Given the description of an element on the screen output the (x, y) to click on. 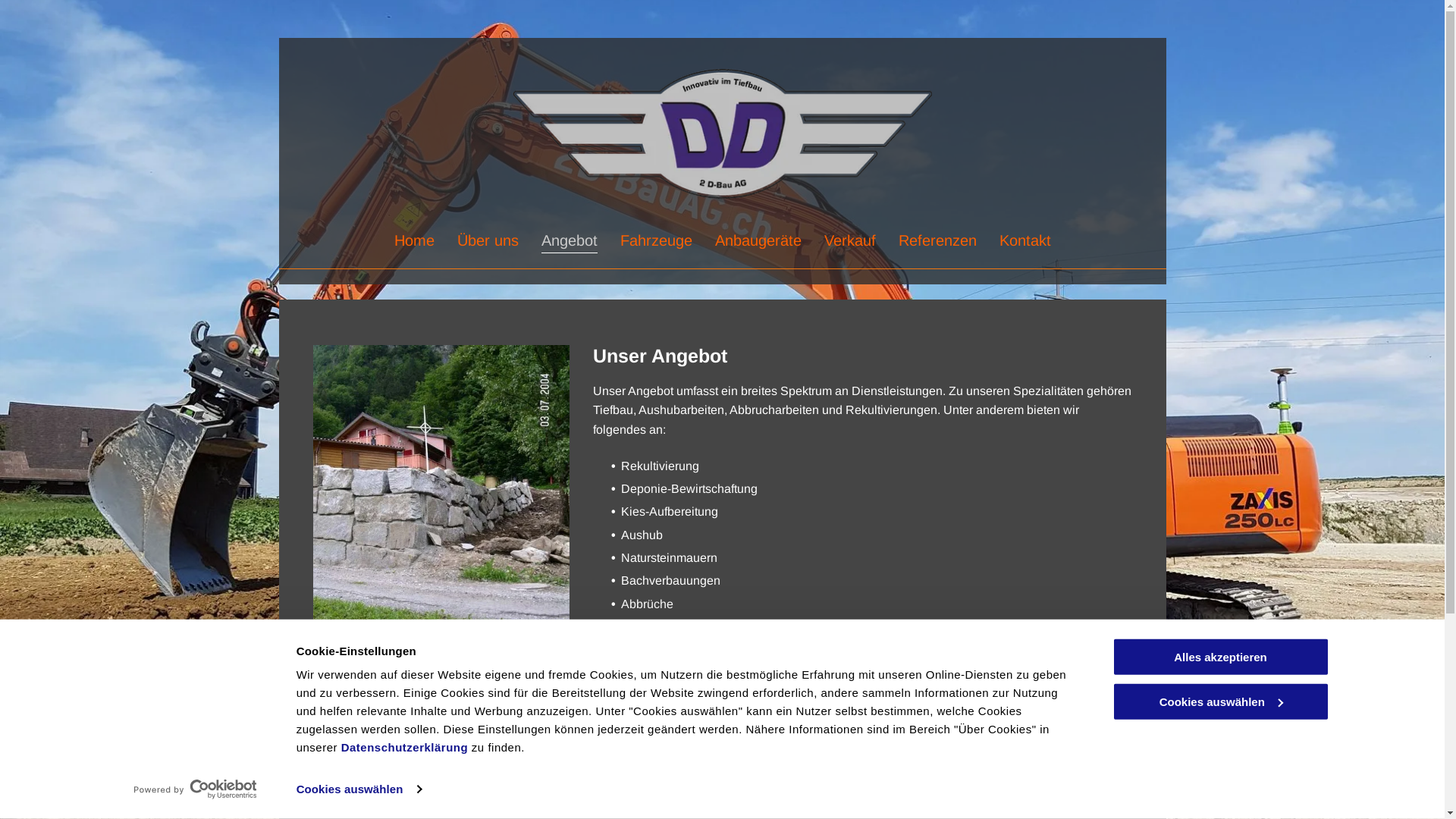
Fahrzeuge Element type: text (655, 239)
Referenzen Element type: text (937, 239)
Kontakt Element type: text (1024, 239)
Angebot Element type: text (568, 239)
Verkauf Element type: text (849, 239)
Alles akzeptieren Element type: text (1219, 656)
Home Element type: text (413, 239)
